Given the description of an element on the screen output the (x, y) to click on. 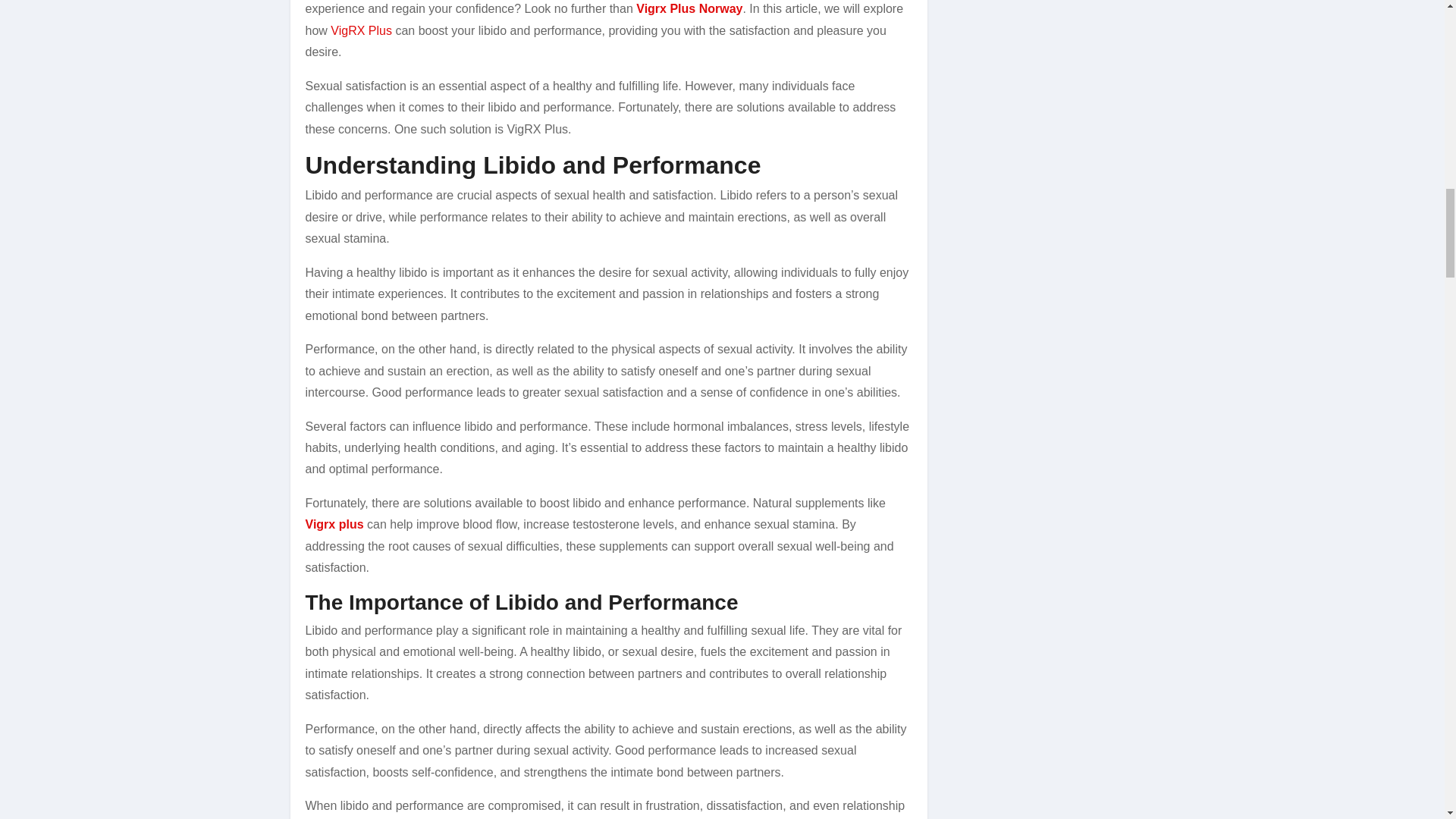
VigRX Plus (360, 30)
Vigrx plus (333, 523)
Vigrx Plus Norway (689, 8)
